Given the description of an element on the screen output the (x, y) to click on. 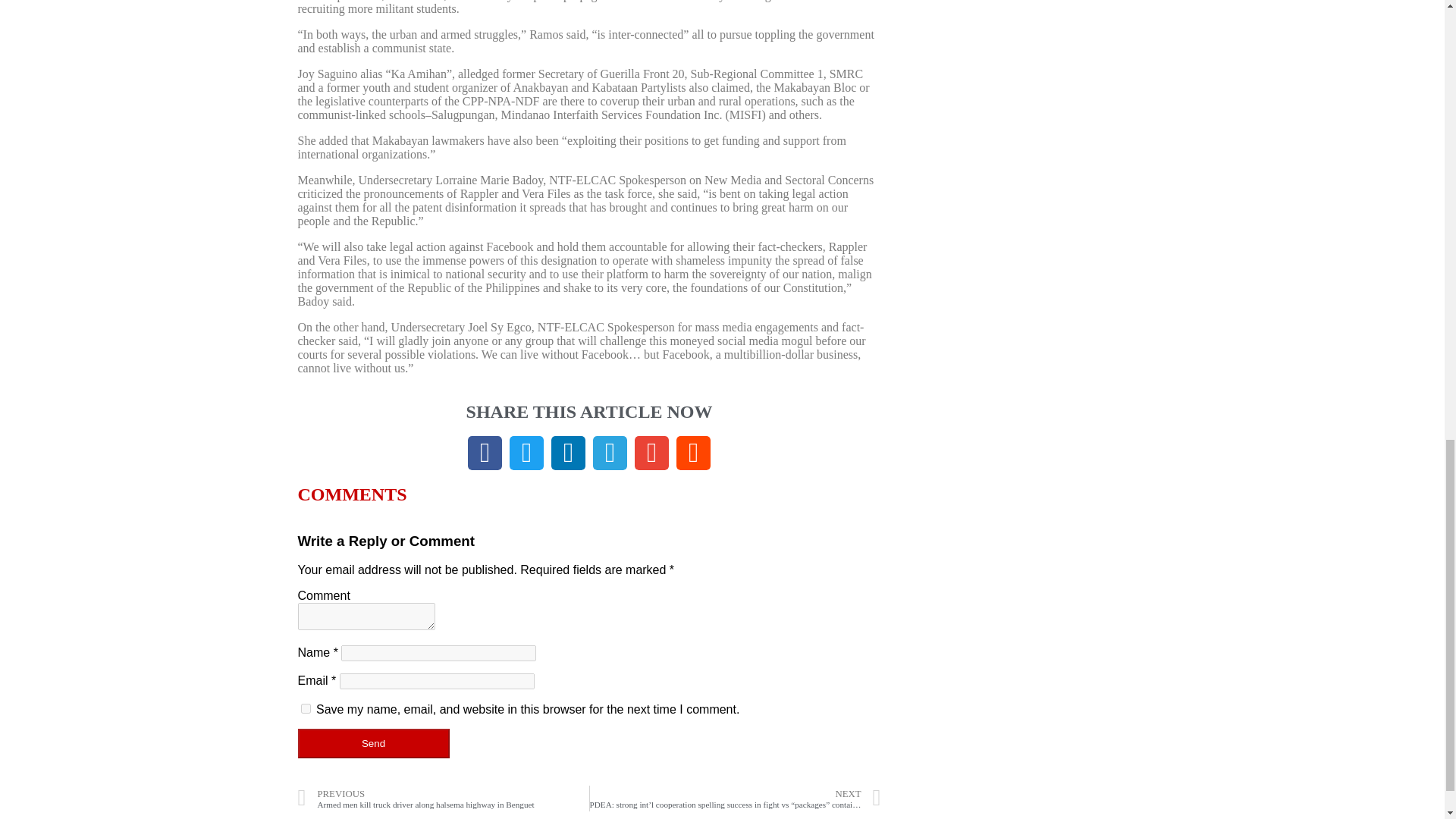
Send (372, 743)
yes (304, 708)
